Given the description of an element on the screen output the (x, y) to click on. 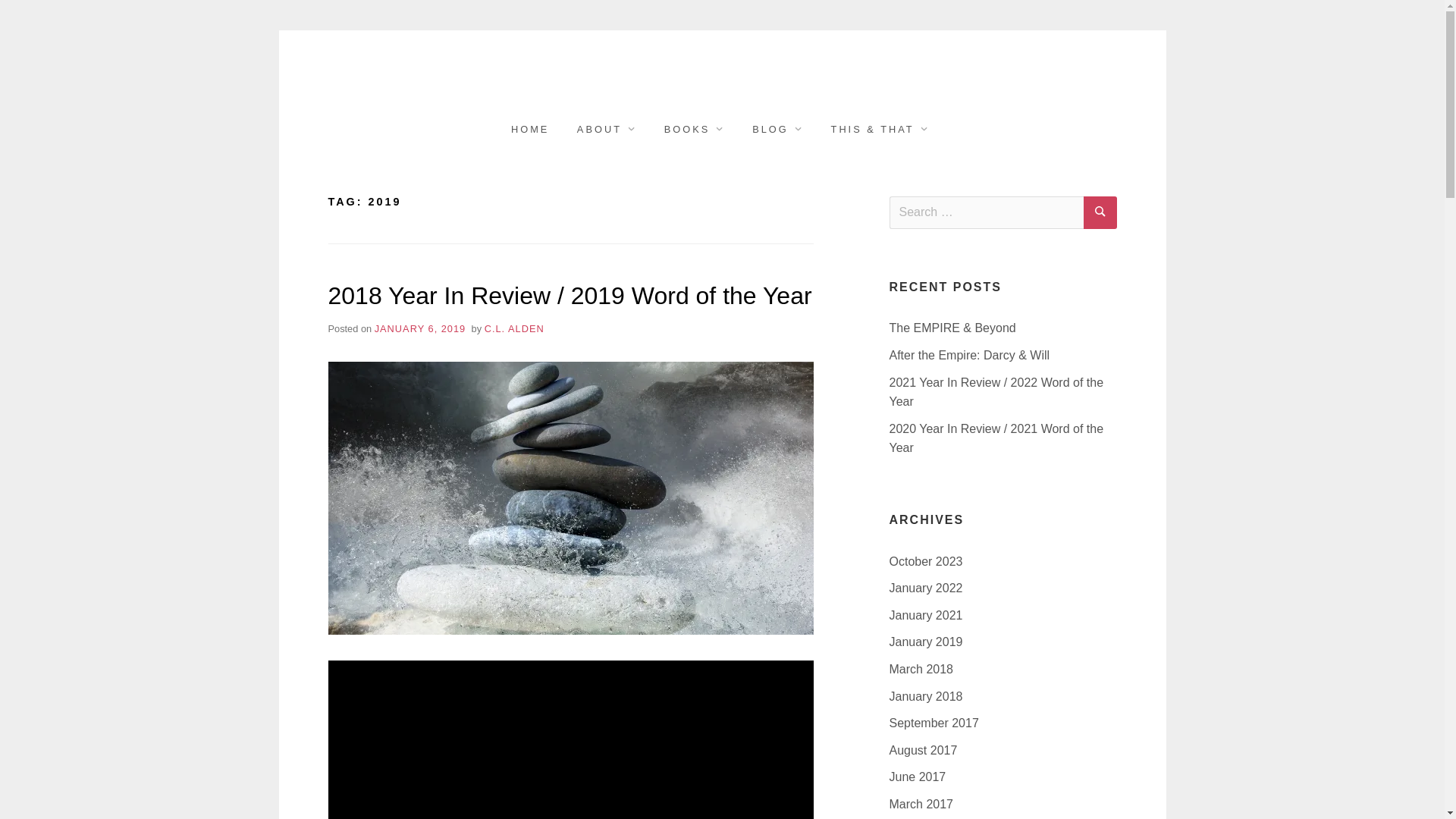
BOOKS (694, 128)
JANUARY 6, 2019 (419, 328)
BLOG (777, 128)
ABOUT (606, 128)
C.L. ALDEN (514, 328)
HOME (529, 128)
